Given the description of an element on the screen output the (x, y) to click on. 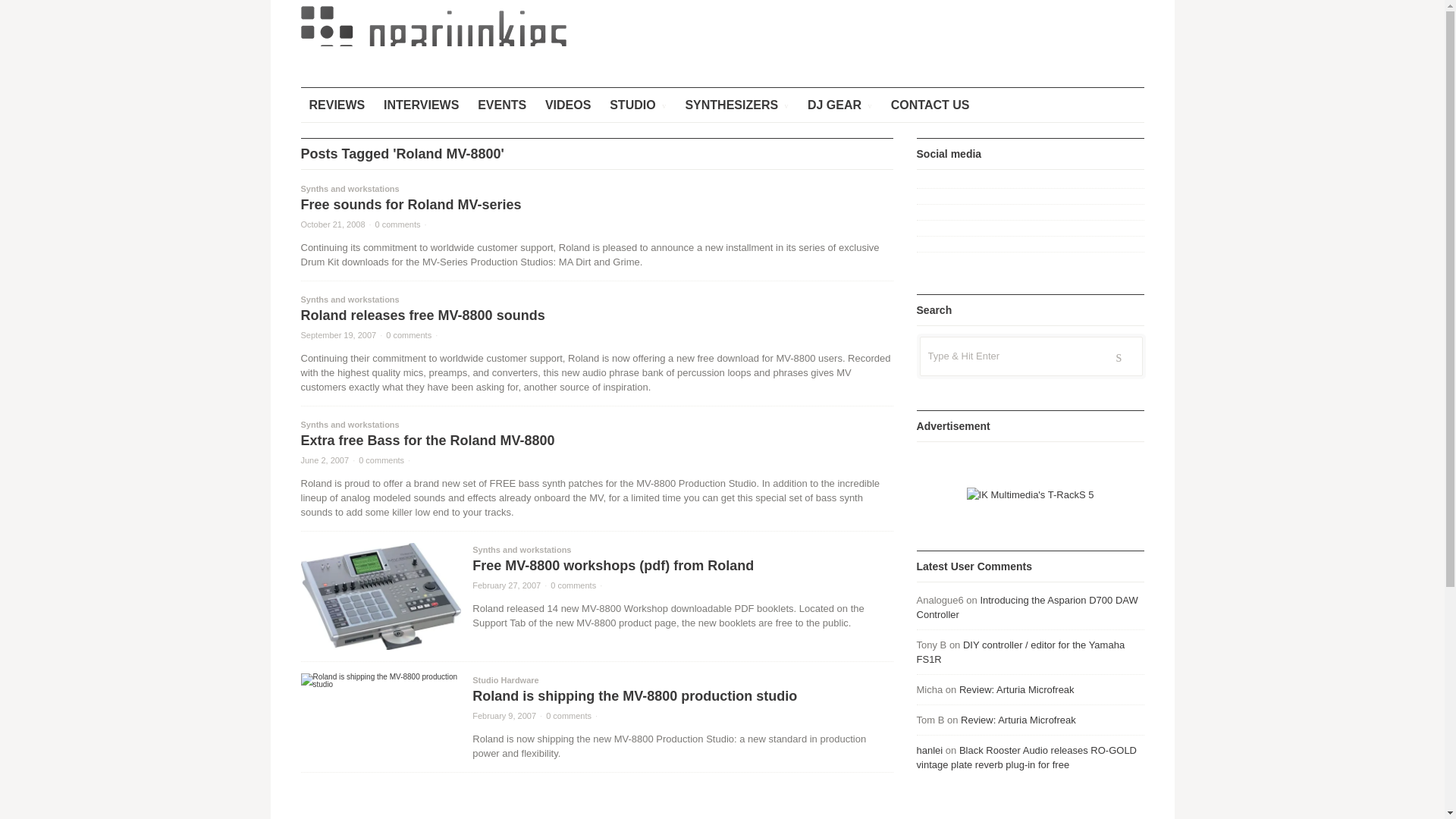
0 comments (568, 715)
REVIEWS (335, 104)
Synths and workstations (520, 549)
0 comments (397, 224)
September 19, 2007 (337, 334)
February 9, 2007 (503, 715)
CONTACT US (930, 104)
Roland is shipping the MV-8800 production studio (633, 695)
STUDIO (637, 104)
